Given the description of an element on the screen output the (x, y) to click on. 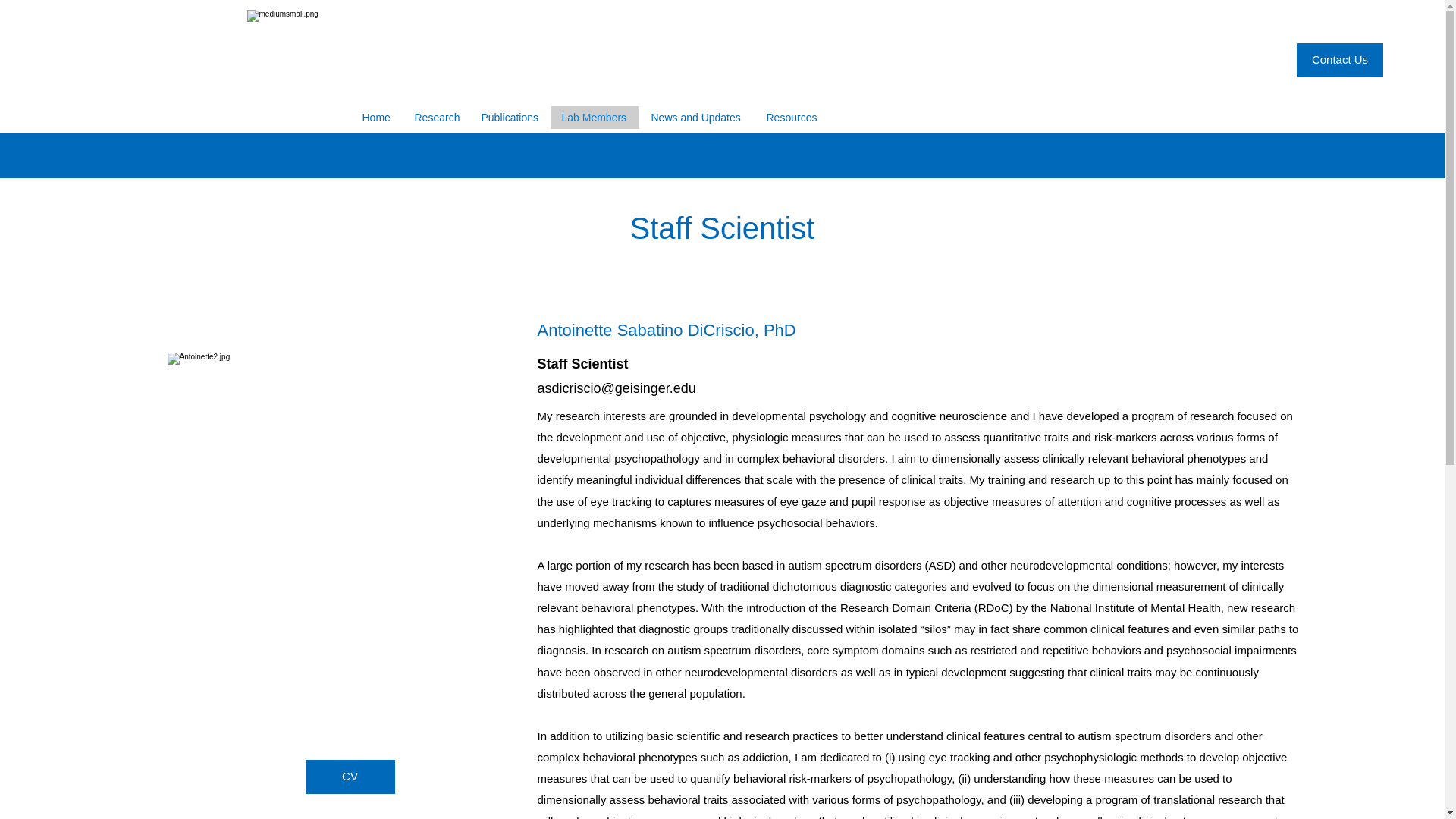
Publications (508, 117)
Home (375, 117)
Resources (789, 117)
Research (434, 117)
Lab Members (593, 117)
CV (349, 776)
Contact Us (1340, 59)
